Given the description of an element on the screen output the (x, y) to click on. 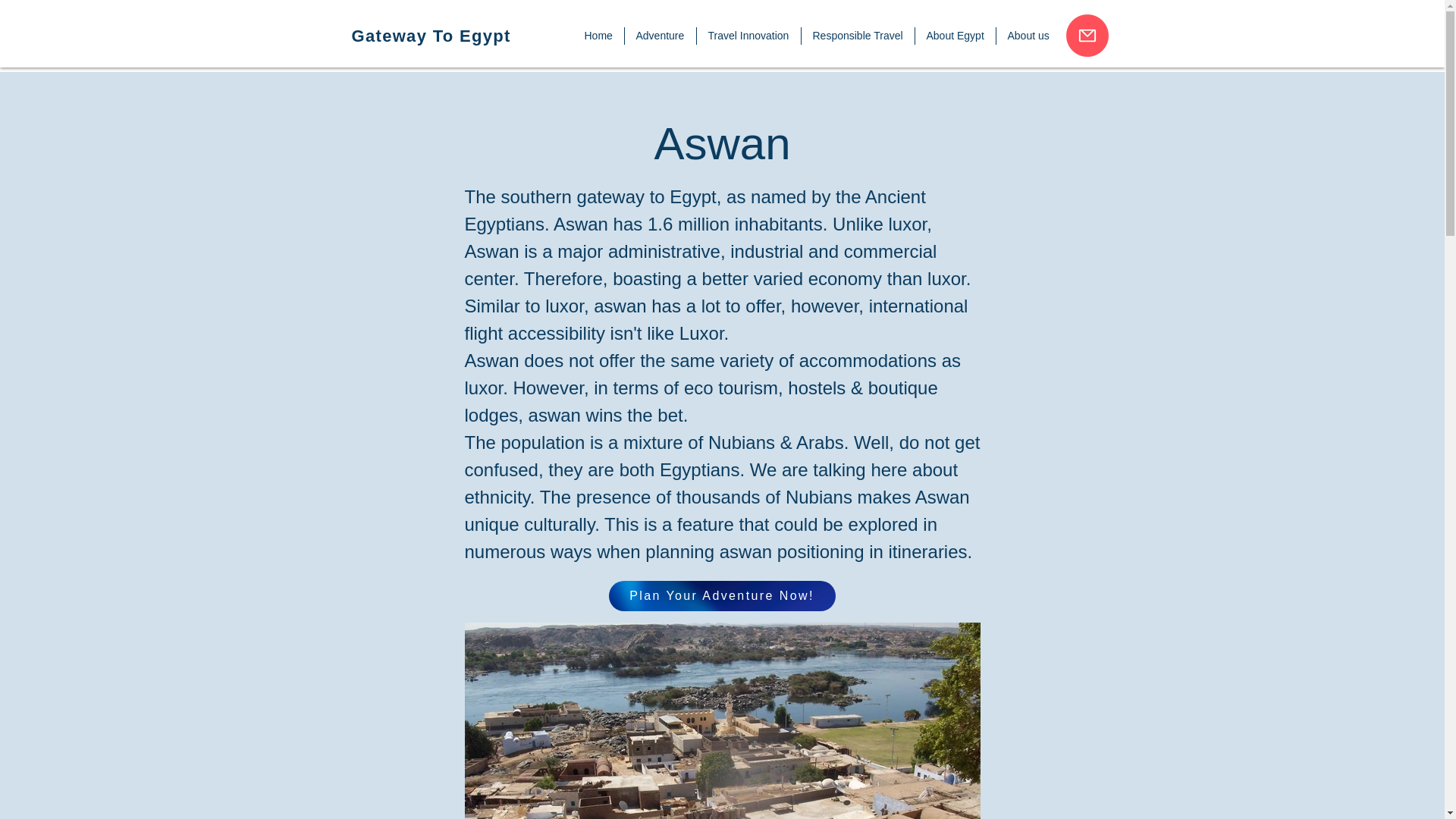
Plan Your Adventure Now! (721, 595)
Gateway To Egypt (431, 35)
About us (1028, 36)
Adventure (659, 36)
Home (598, 36)
Responsible Travel (857, 36)
About Egypt (954, 36)
Aswan (721, 720)
Travel Innovation (747, 36)
